Given the description of an element on the screen output the (x, y) to click on. 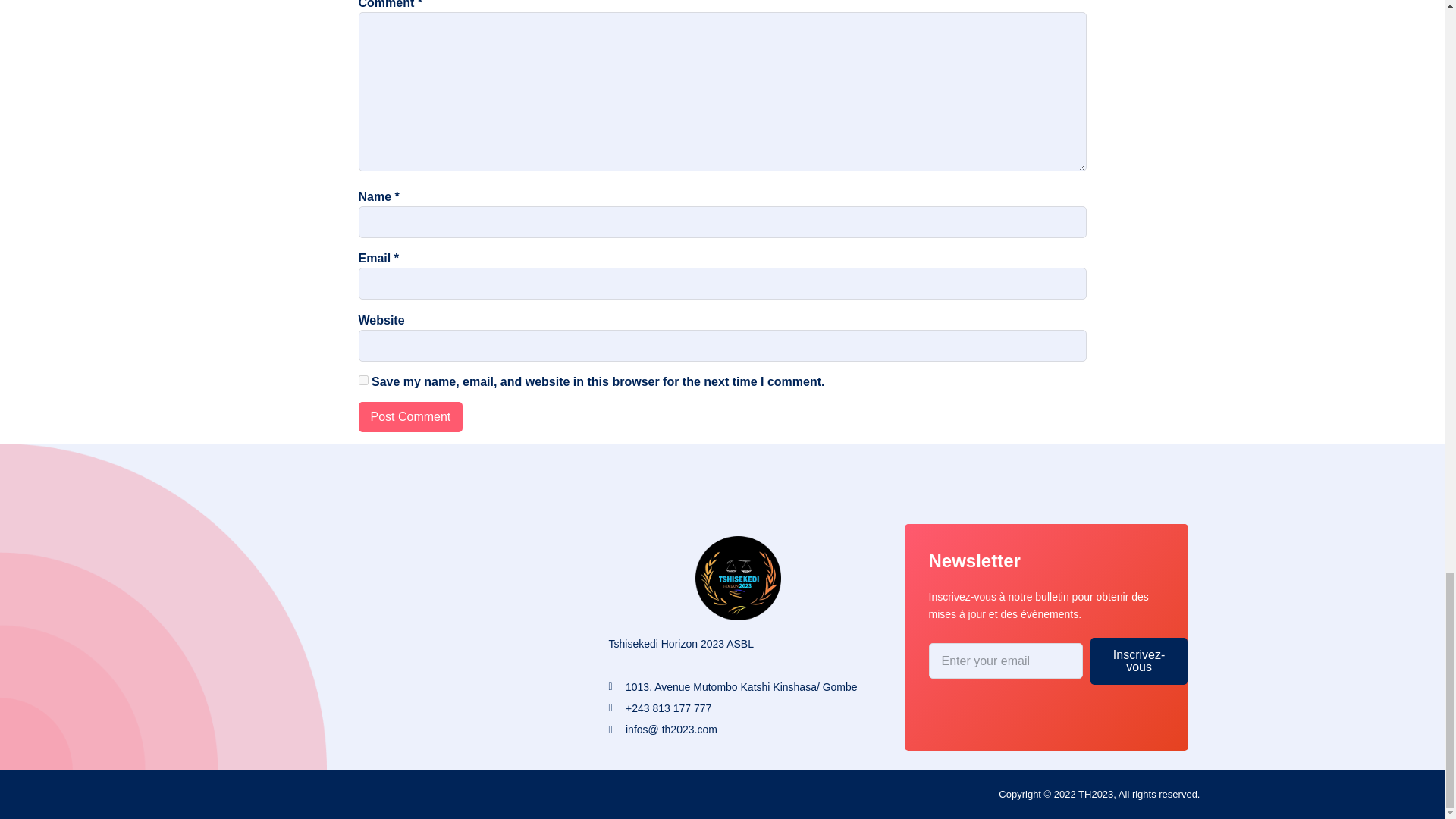
Post Comment (410, 417)
Inscrivez-vous (1139, 661)
yes (363, 379)
Post Comment (410, 417)
